Given the description of an element on the screen output the (x, y) to click on. 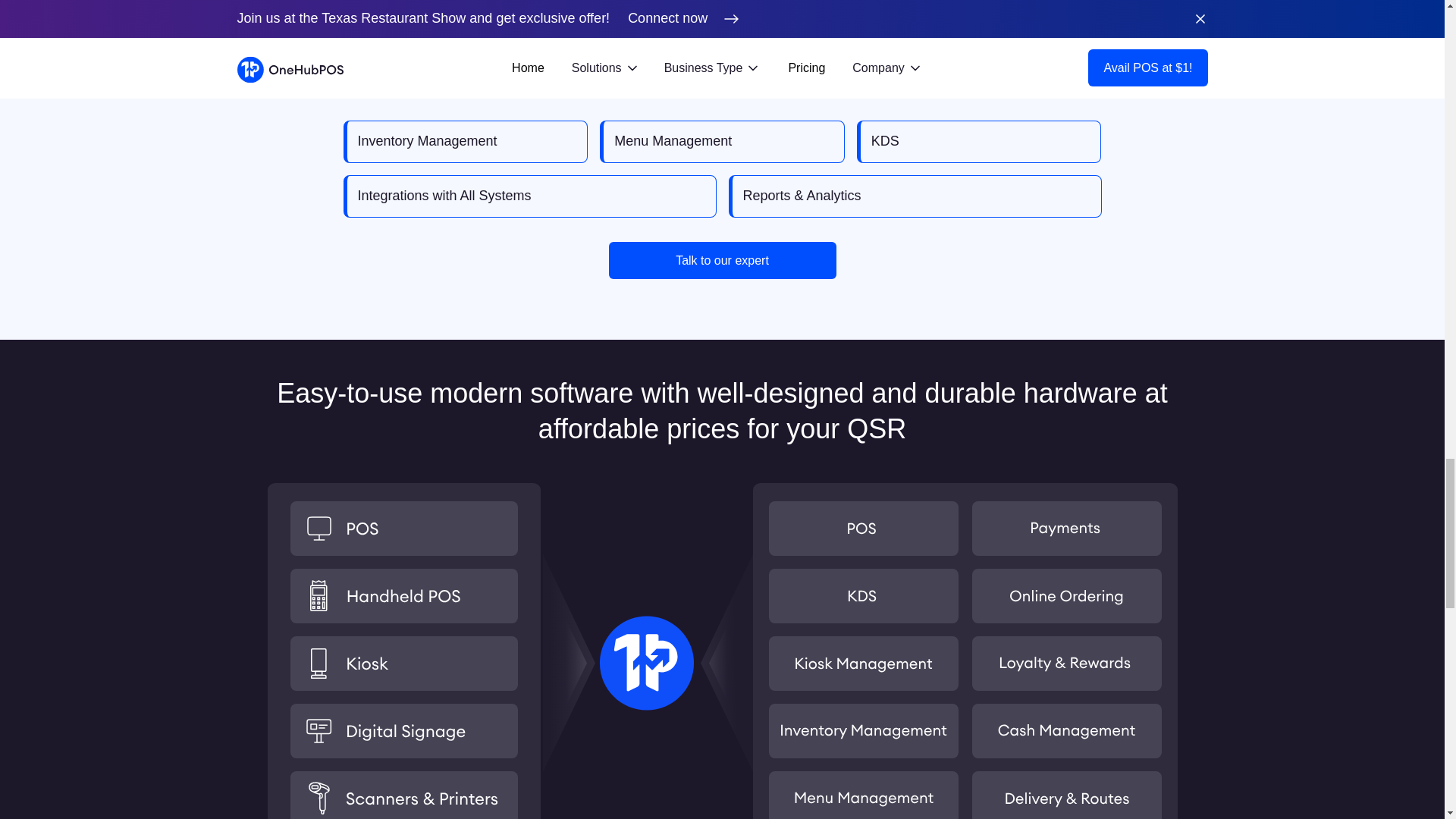
Talk to our expert (721, 260)
